Given the description of an element on the screen output the (x, y) to click on. 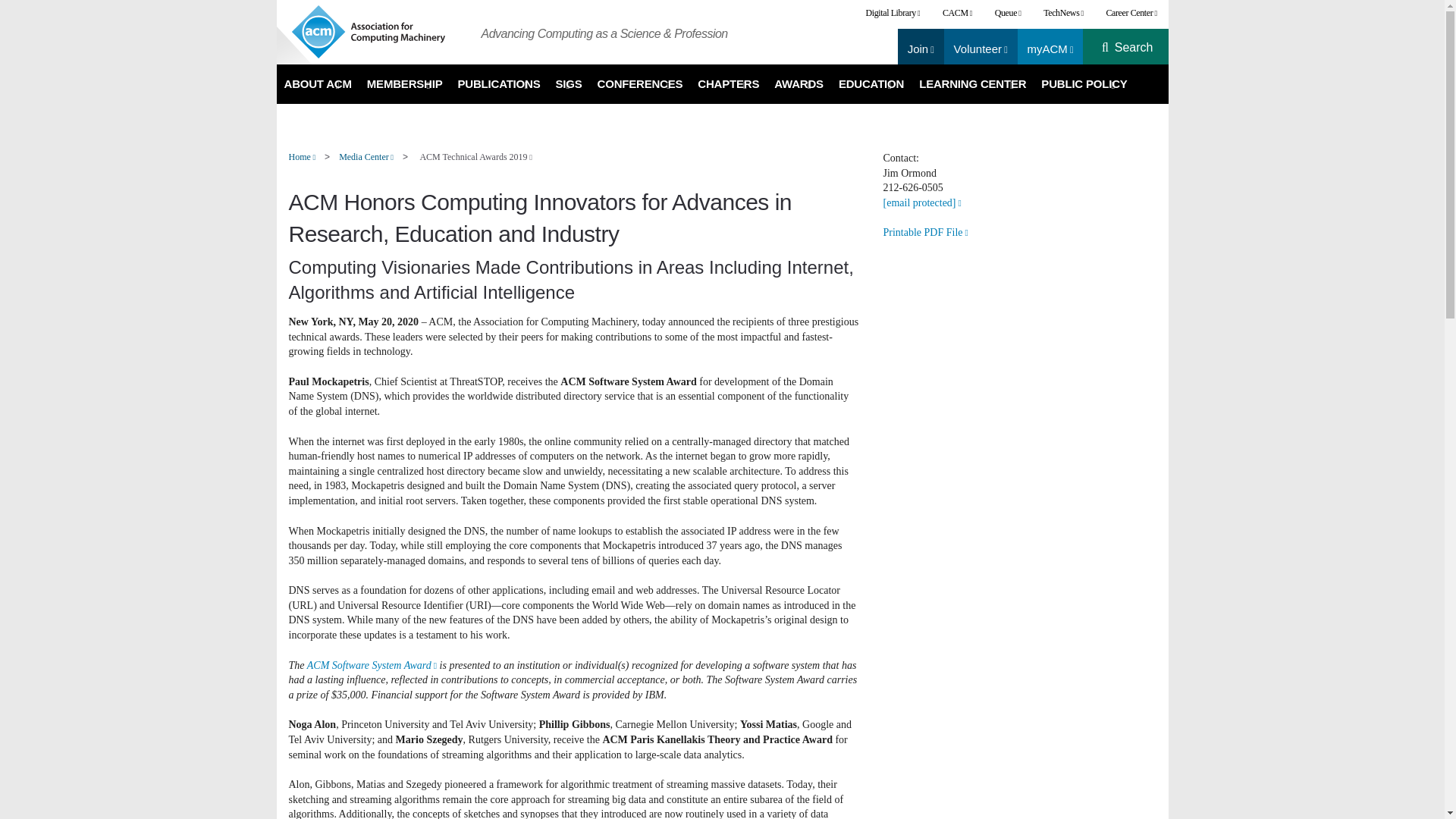
Queue (1008, 13)
ABOUT ACM (317, 84)
Career Center (1131, 13)
Digital Library (892, 13)
Queue (1008, 13)
Search (1134, 47)
Home (378, 31)
Career Center (1131, 13)
CACM (957, 13)
Search (1134, 47)
CACM (957, 13)
TechNews (1063, 13)
Digital Library (892, 13)
TechNews (1063, 13)
Volunteer (980, 48)
